Given the description of an element on the screen output the (x, y) to click on. 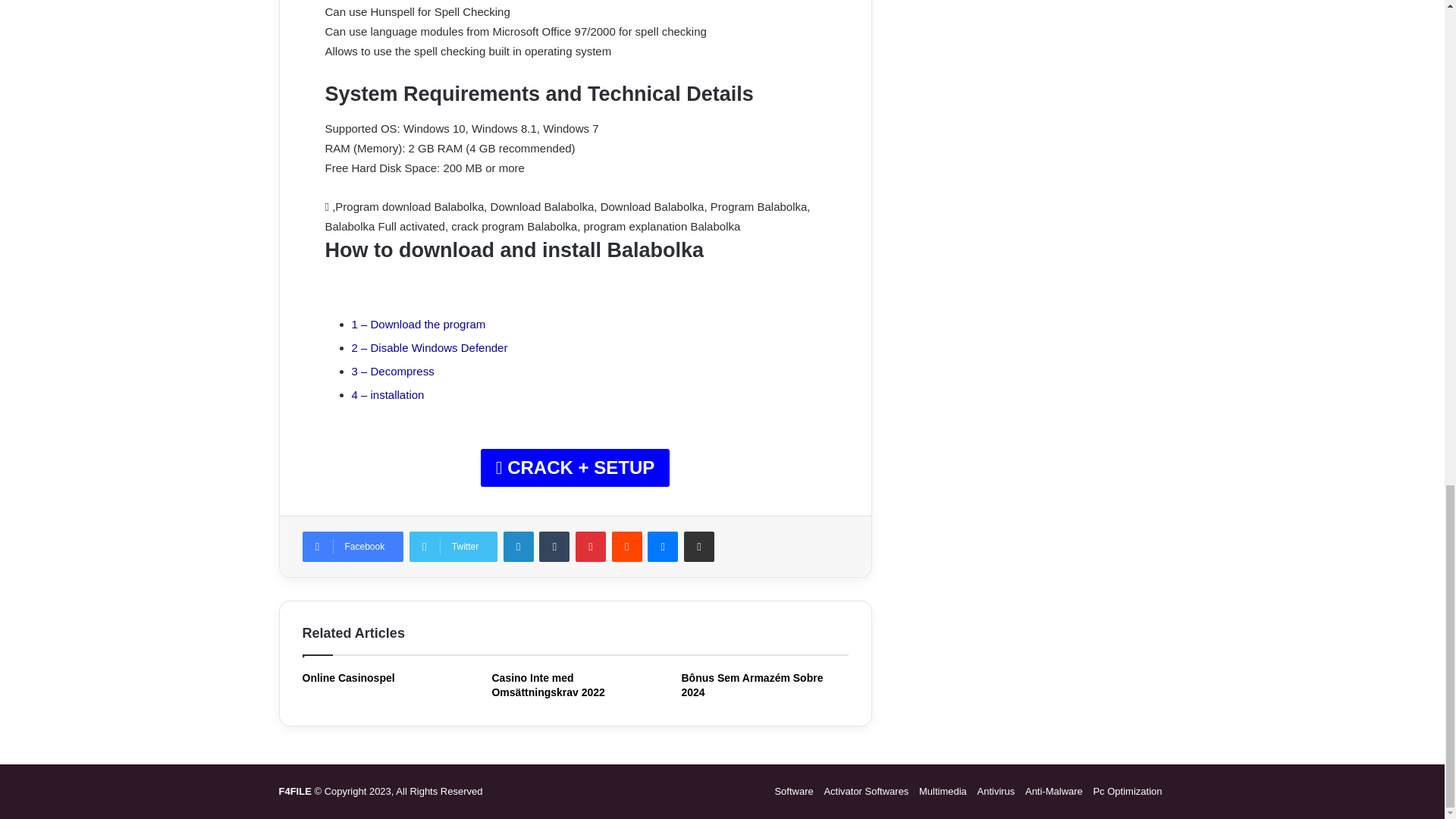
Reddit (626, 546)
Reddit (626, 546)
Pinterest (590, 546)
Online Casinospel (347, 677)
Messenger (662, 546)
Messenger (662, 546)
Twitter (453, 546)
Tumblr (553, 546)
Share via Email (699, 546)
Facebook (352, 546)
LinkedIn (518, 546)
Twitter (453, 546)
Facebook (352, 546)
LinkedIn (518, 546)
Pinterest (590, 546)
